Given the description of an element on the screen output the (x, y) to click on. 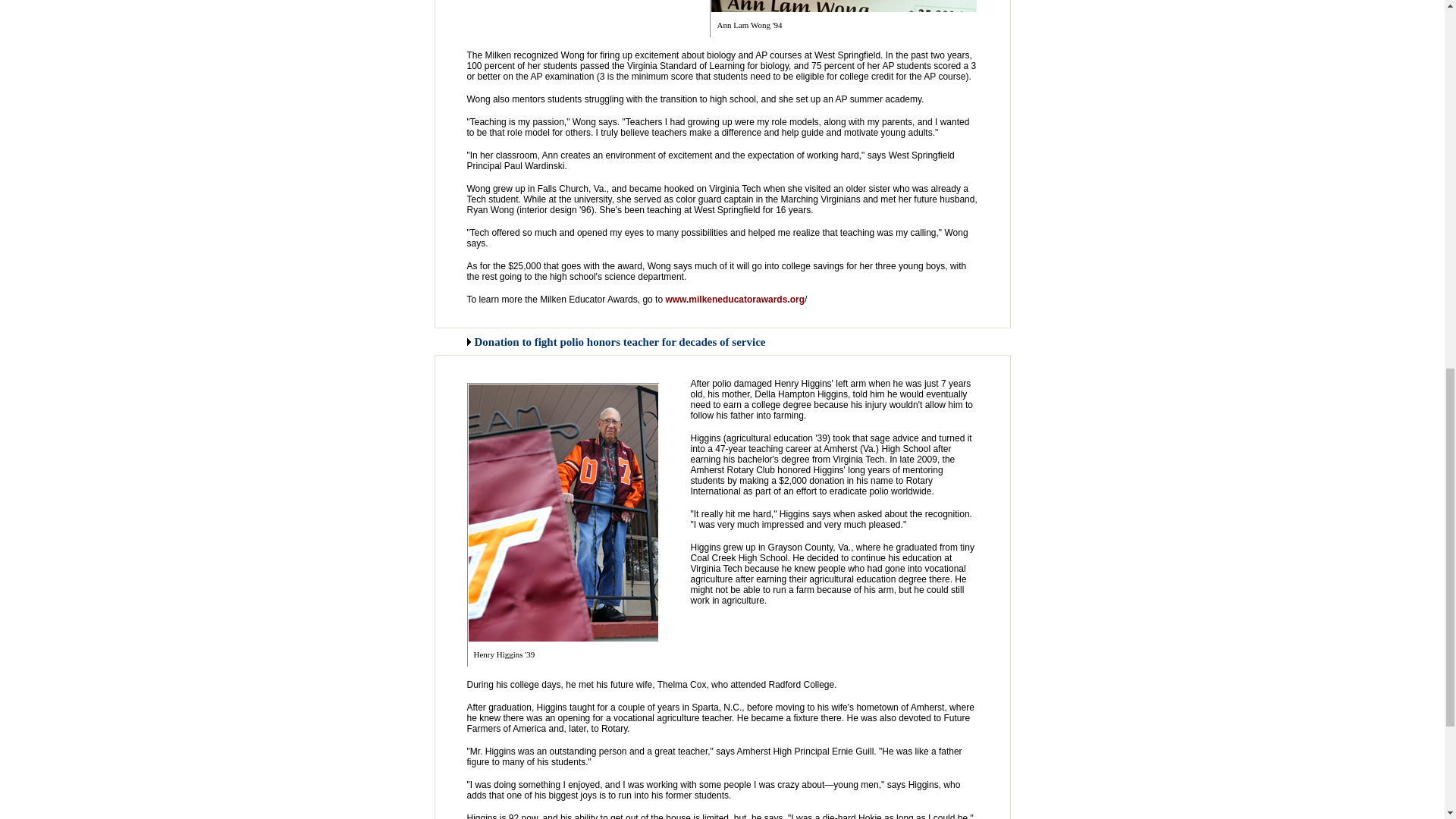
www.milkeneducatorawards.org (735, 299)
